Given the description of an element on the screen output the (x, y) to click on. 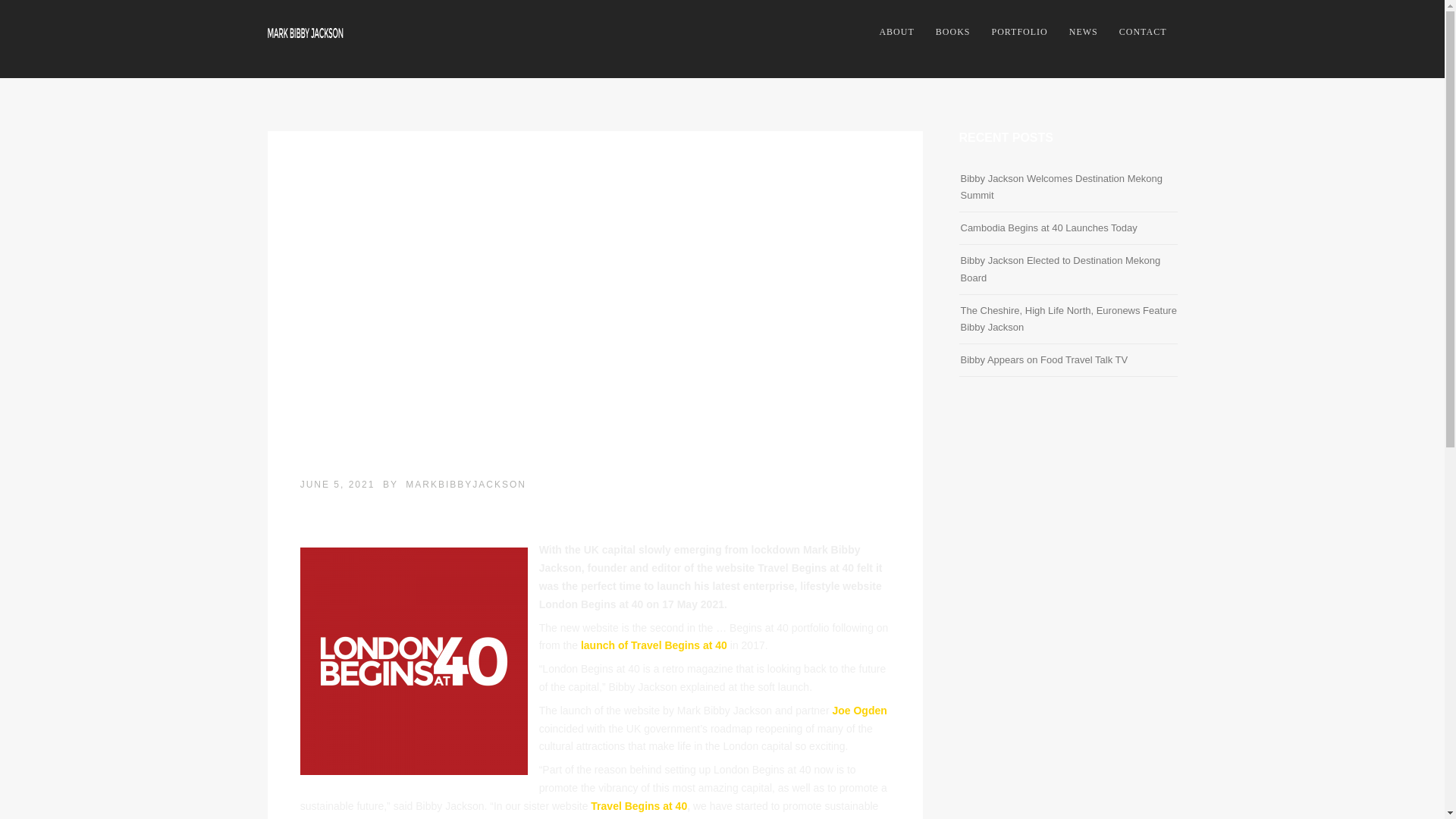
Joe Ogden (858, 710)
Travel Begins at 40 (639, 806)
Cambodia Begins at 40 Launches Today (1048, 227)
launch of Travel Begins at 40 (652, 645)
Bibby Appears on Food Travel Talk TV (1042, 359)
Bibby Jackson Welcomes Destination Mekong Summit (1060, 186)
MARKBIBBYJACKSON (465, 484)
PORTFOLIO (1018, 31)
ABOUT (895, 31)
About Mark Bibby Jackson (895, 31)
